Given the description of an element on the screen output the (x, y) to click on. 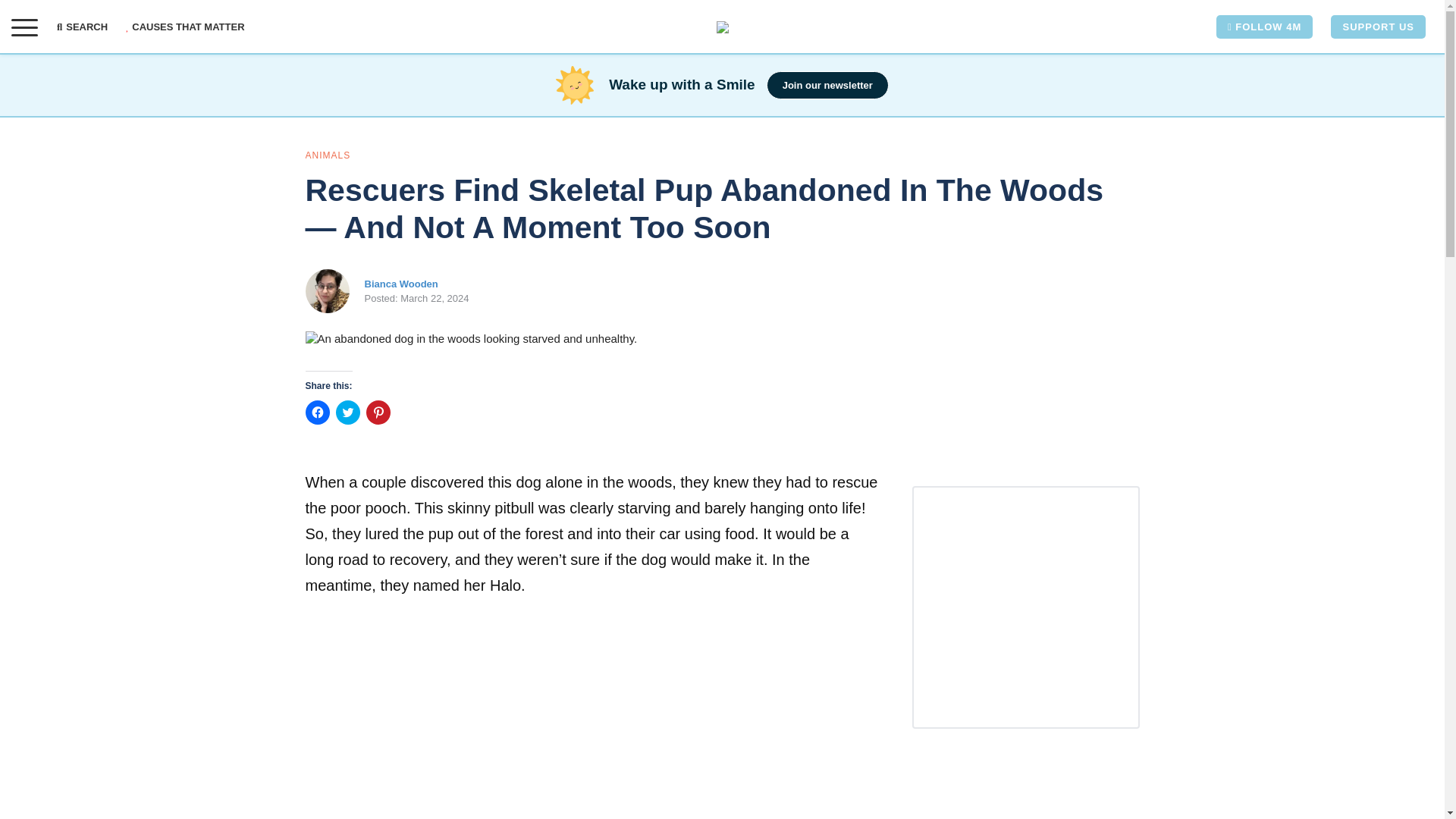
Join our newsletter (827, 85)
ANIMALS (327, 154)
Click to share on Facebook (316, 412)
CAUSES THAT MATTER (184, 26)
Click to share on Pinterest (377, 412)
SUPPORT US (1377, 26)
Click to share on Twitter (346, 412)
SEARCH (86, 26)
Bianca Wooden (401, 283)
FOLLOW 4M (1264, 26)
